Given the description of an element on the screen output the (x, y) to click on. 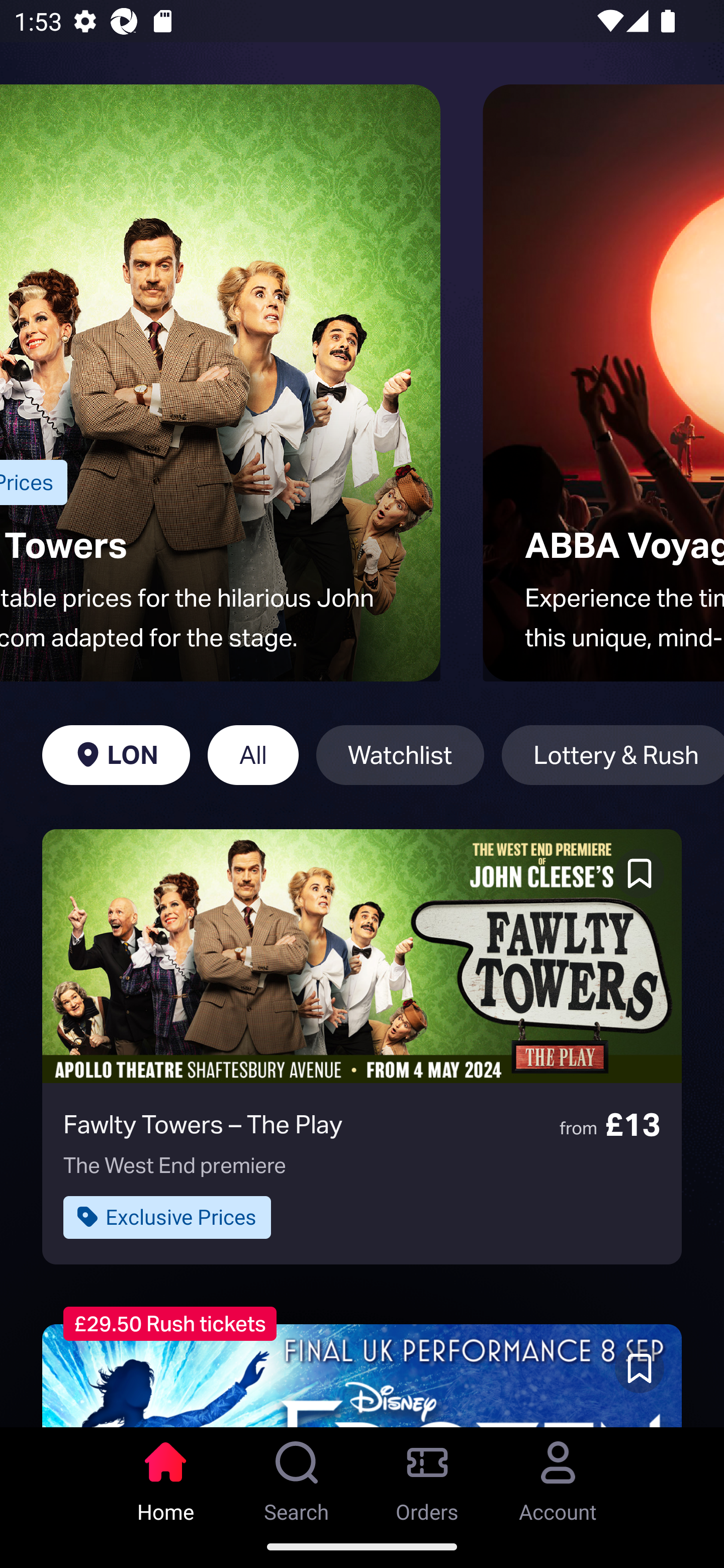
LON (115, 754)
All (252, 754)
Watchlist (400, 754)
Lottery & Rush (612, 754)
Search (296, 1475)
Orders (427, 1475)
Account (558, 1475)
